Given the description of an element on the screen output the (x, y) to click on. 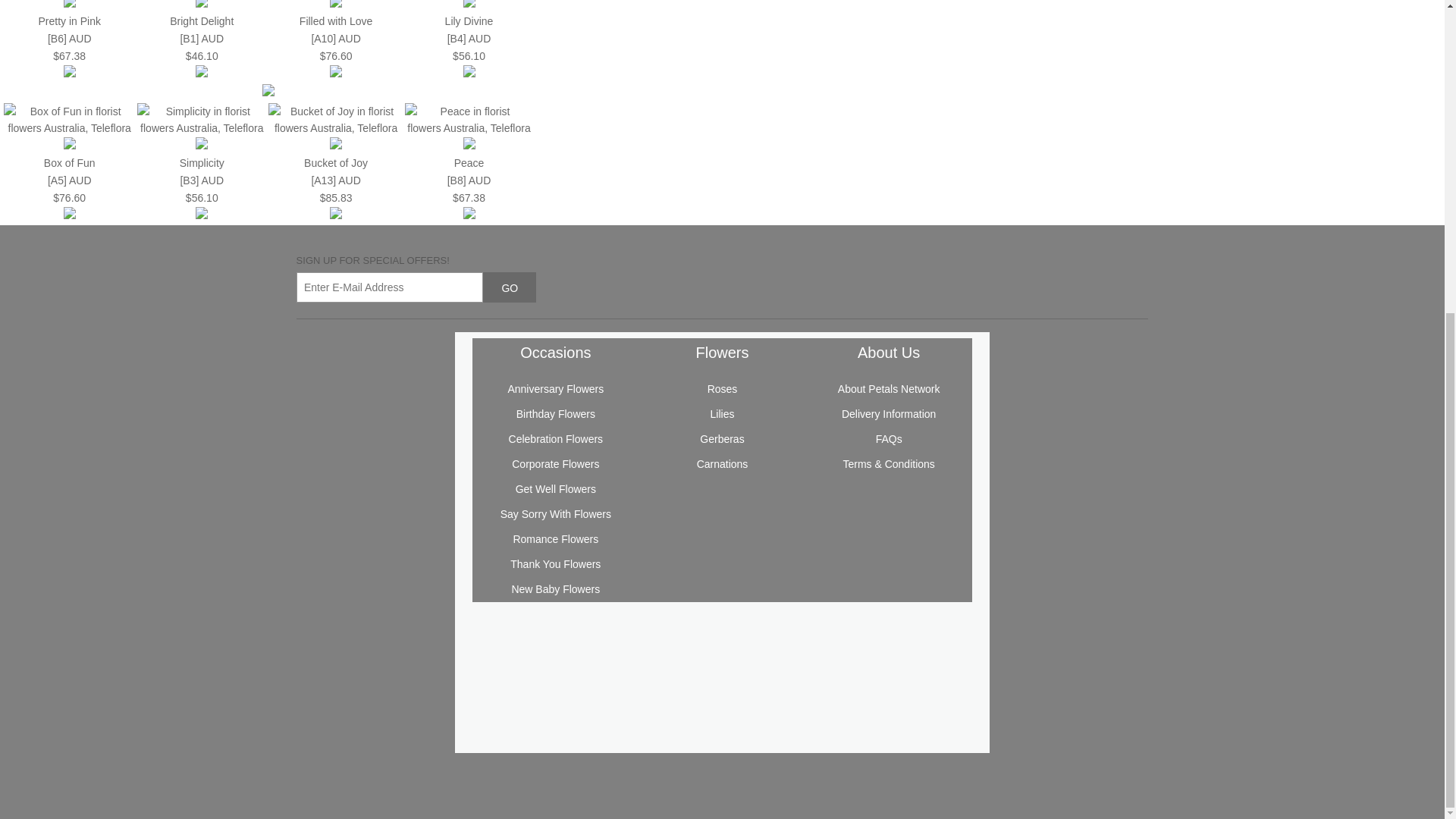
Lily Divine in Mackay, Australia, Teleflora (469, 21)
Bright Delight in Mackay, Australia, Teleflora (205, 64)
Pretty in Pink in Mackay, Australia, Teleflora (68, 21)
Bright Delight in Mackay, Australia, Teleflora (201, 21)
Pretty in Pink in Mackay, Australia, Teleflora (69, 38)
Bright Delight in Mackay, Australia, Teleflora (201, 38)
Pretty in Pink in Mackay, Australia, Teleflora (71, 64)
go (509, 286)
Filled with Love in Mackay, Australia, Teleflora (335, 21)
Pretty in Pink in Mackay, Australia, Teleflora (69, 73)
Filled with Love in Mackay, Australia, Teleflora (340, 64)
Filled with Love in Mackay, Australia, Teleflora (335, 38)
Filled with Love in Mackay, Australia, Teleflora (336, 73)
Bright Delight in Mackay, Australia, Teleflora (201, 73)
